Given the description of an element on the screen output the (x, y) to click on. 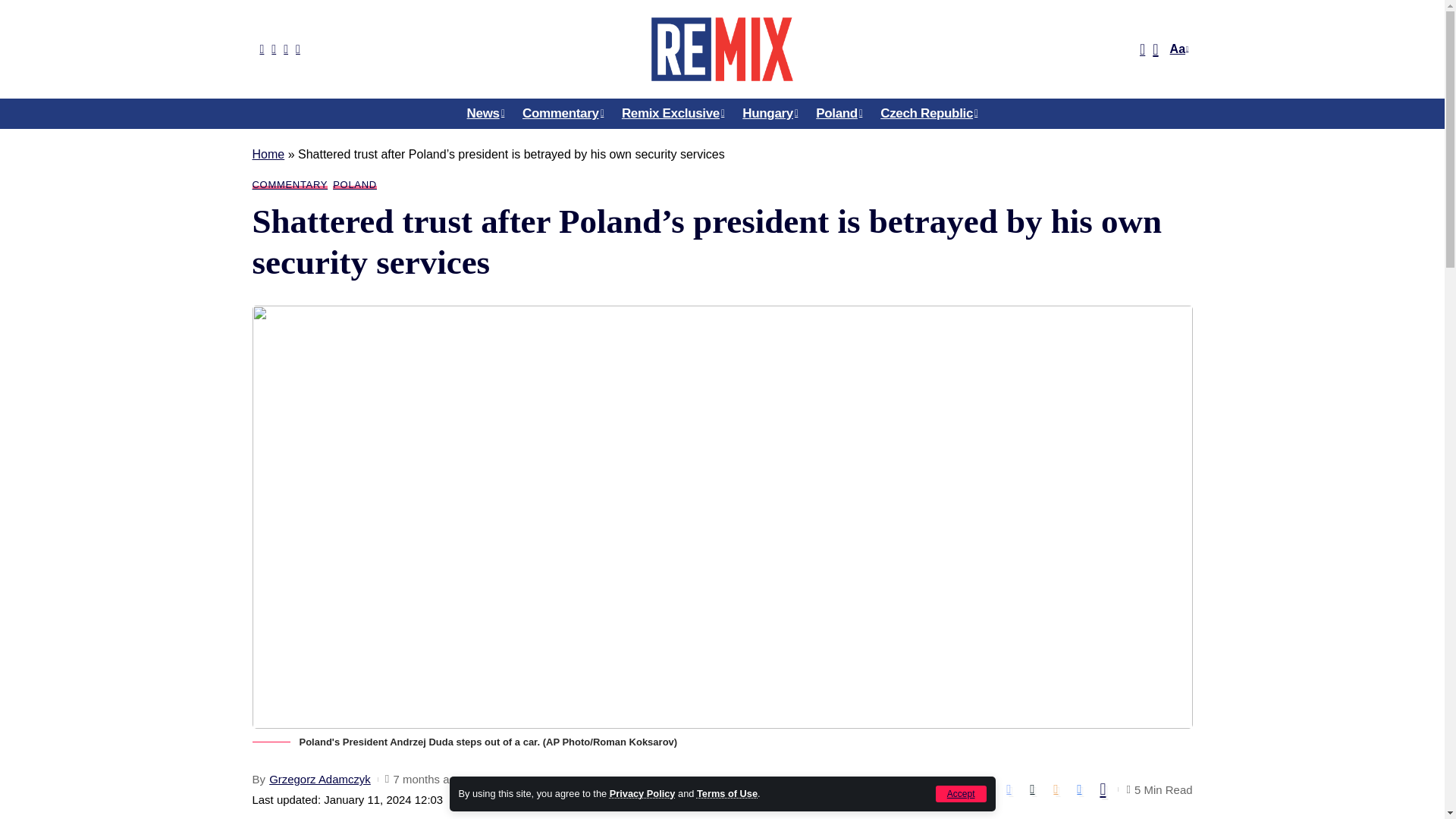
Aa (1177, 48)
Remix Exclusive (672, 113)
Remix News (721, 48)
Terms of Use (727, 793)
Privacy Policy (642, 793)
News (485, 113)
Accept (961, 793)
Commentary (562, 113)
